Given the description of an element on the screen output the (x, y) to click on. 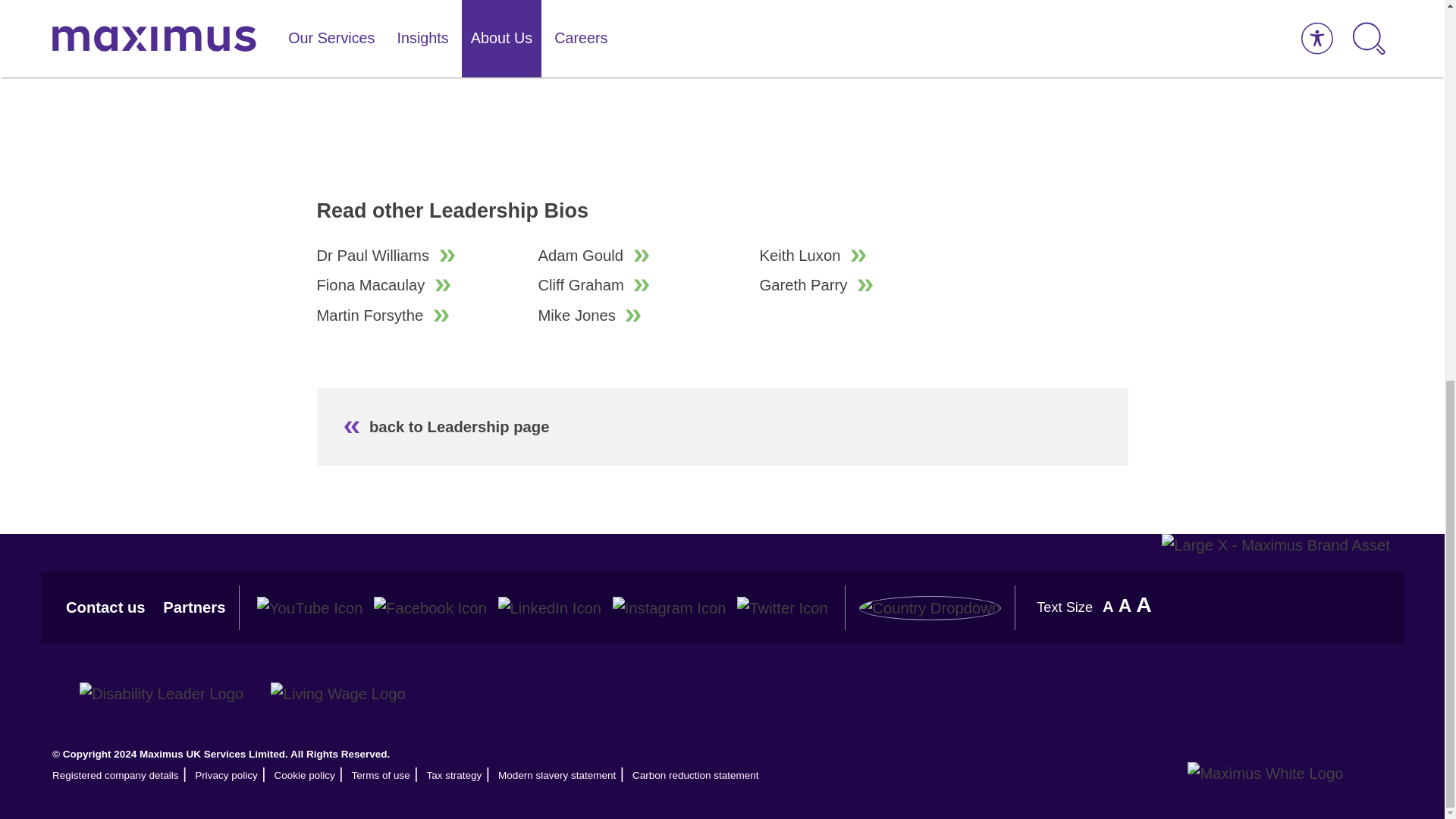
Fiona Macaulay (419, 284)
Martin Forsythe (419, 314)
Dr Paul Williams (419, 255)
